Given the description of an element on the screen output the (x, y) to click on. 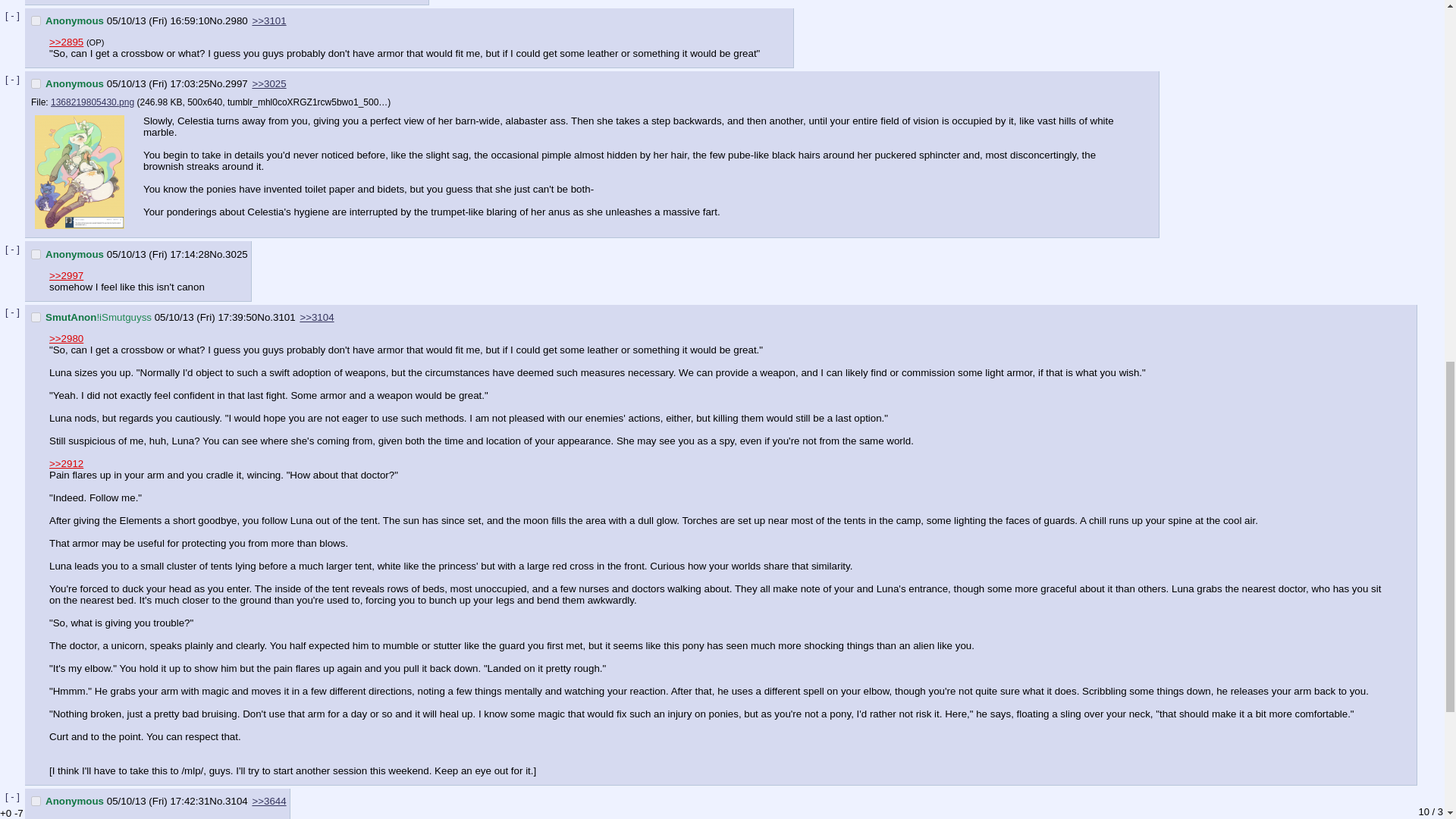
on (35, 83)
on (35, 254)
on (35, 800)
2980 (236, 20)
on (35, 20)
on (35, 317)
No. (217, 20)
